Given the description of an element on the screen output the (x, y) to click on. 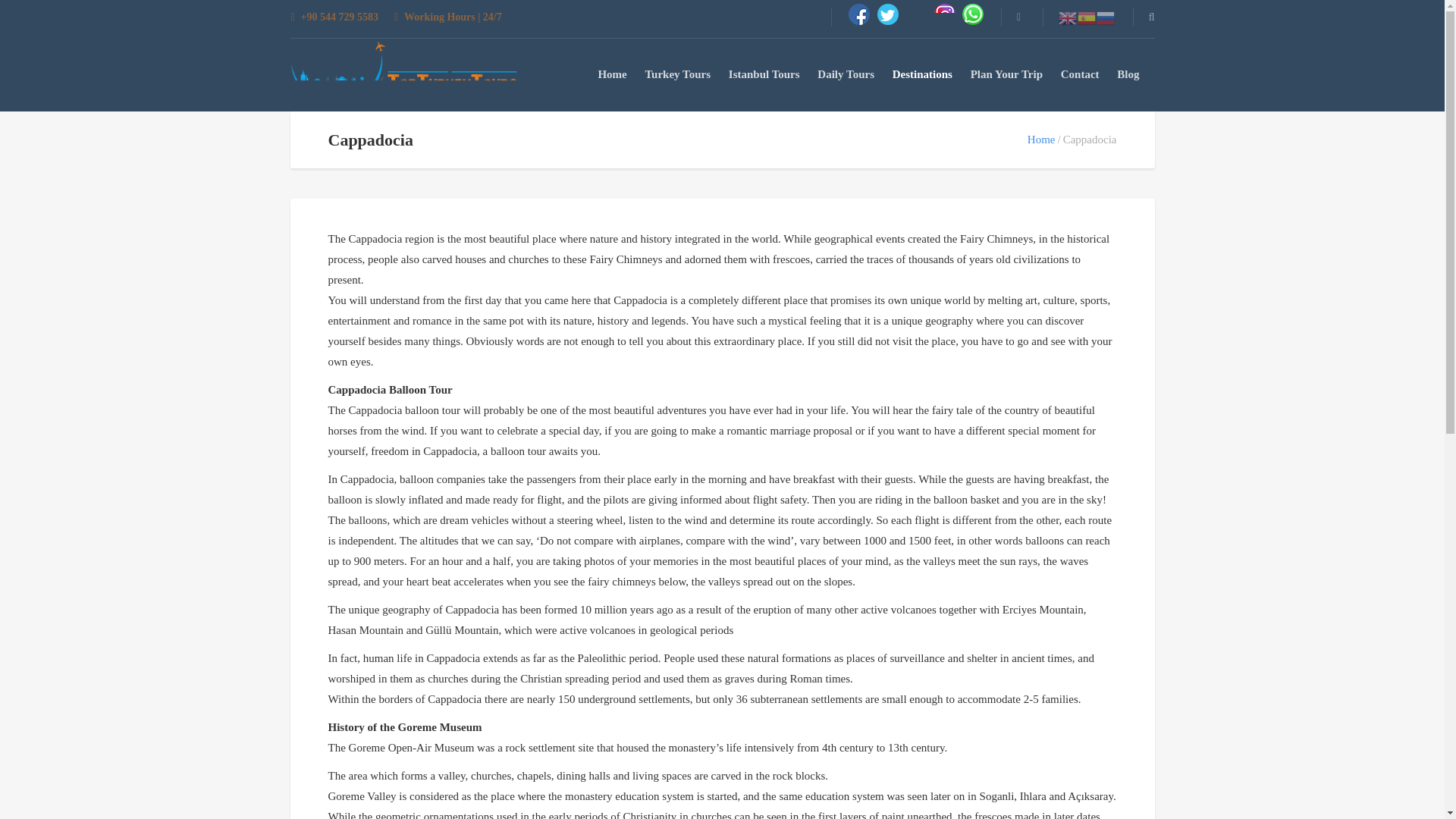
English (1067, 16)
Turkey Tours (677, 73)
Russian (1105, 16)
Istanbul Tours (764, 73)
Home (611, 73)
Turkey Shore Excursions (402, 75)
Spanish (1086, 16)
